Given the description of an element on the screen output the (x, y) to click on. 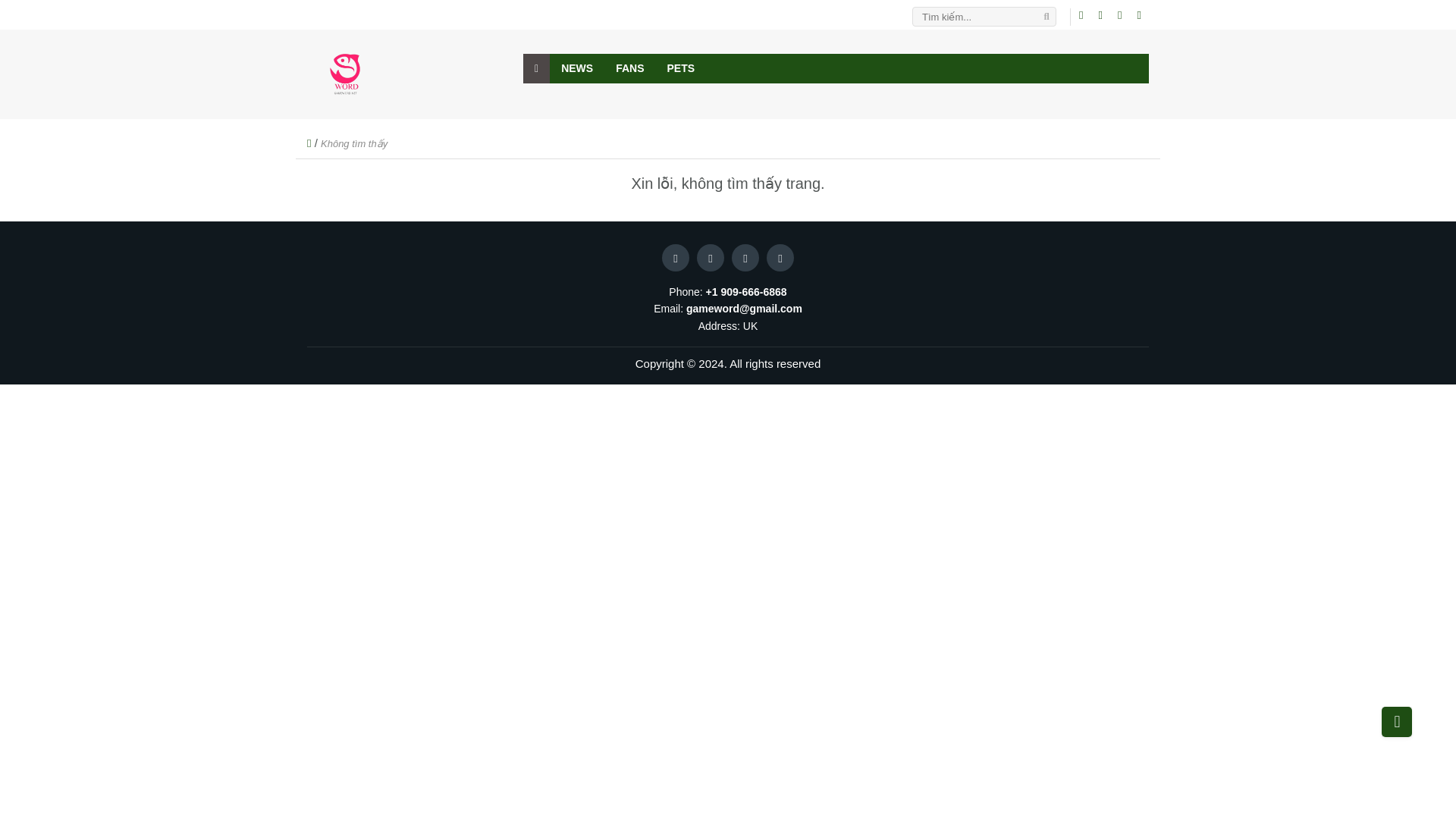
NEWS (577, 68)
PETS (680, 68)
FANS (629, 68)
